Given the description of an element on the screen output the (x, y) to click on. 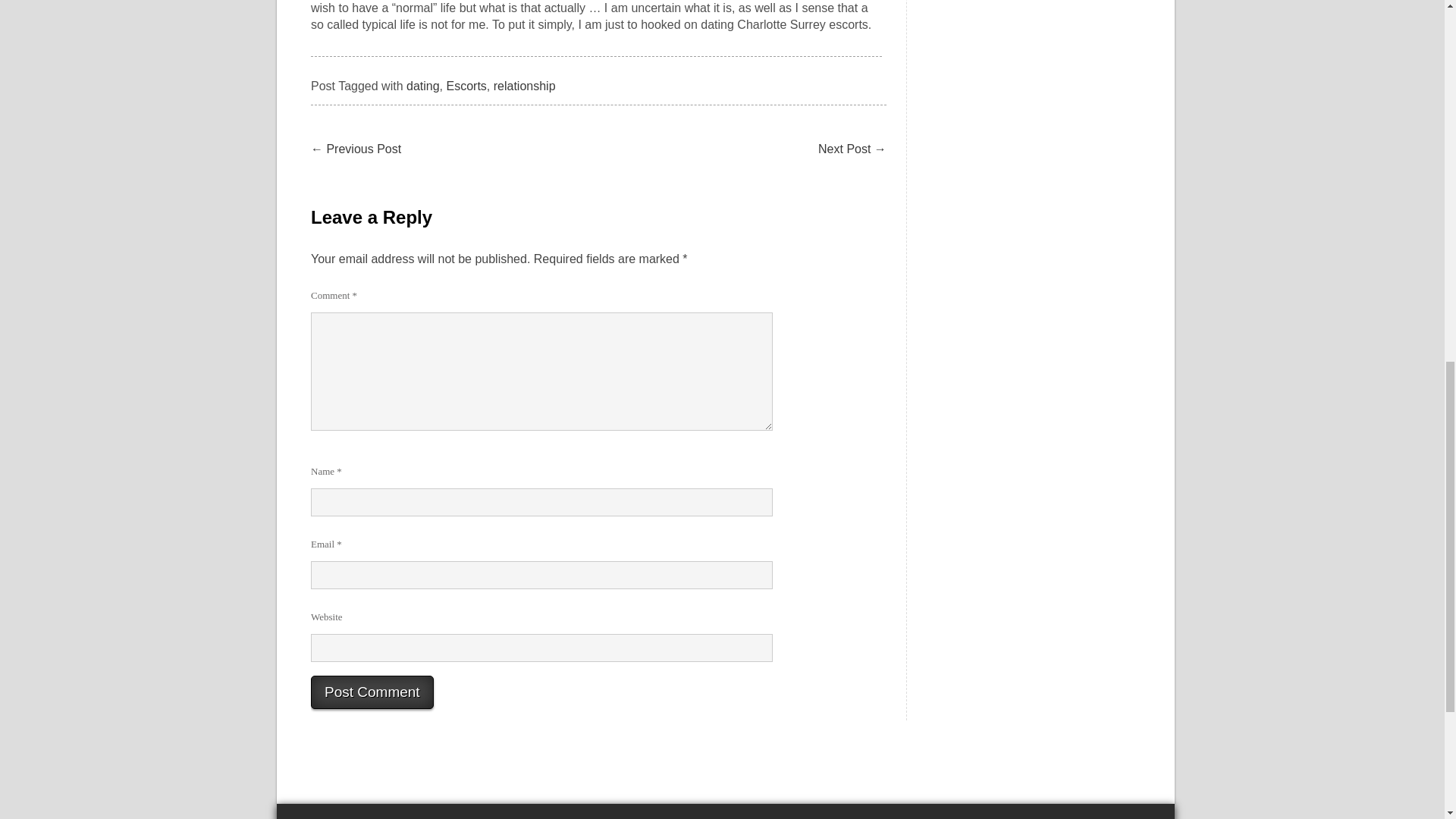
Escorts (465, 85)
dating (422, 85)
Post Comment (372, 692)
relationship (524, 85)
Post Comment (372, 692)
